Given the description of an element on the screen output the (x, y) to click on. 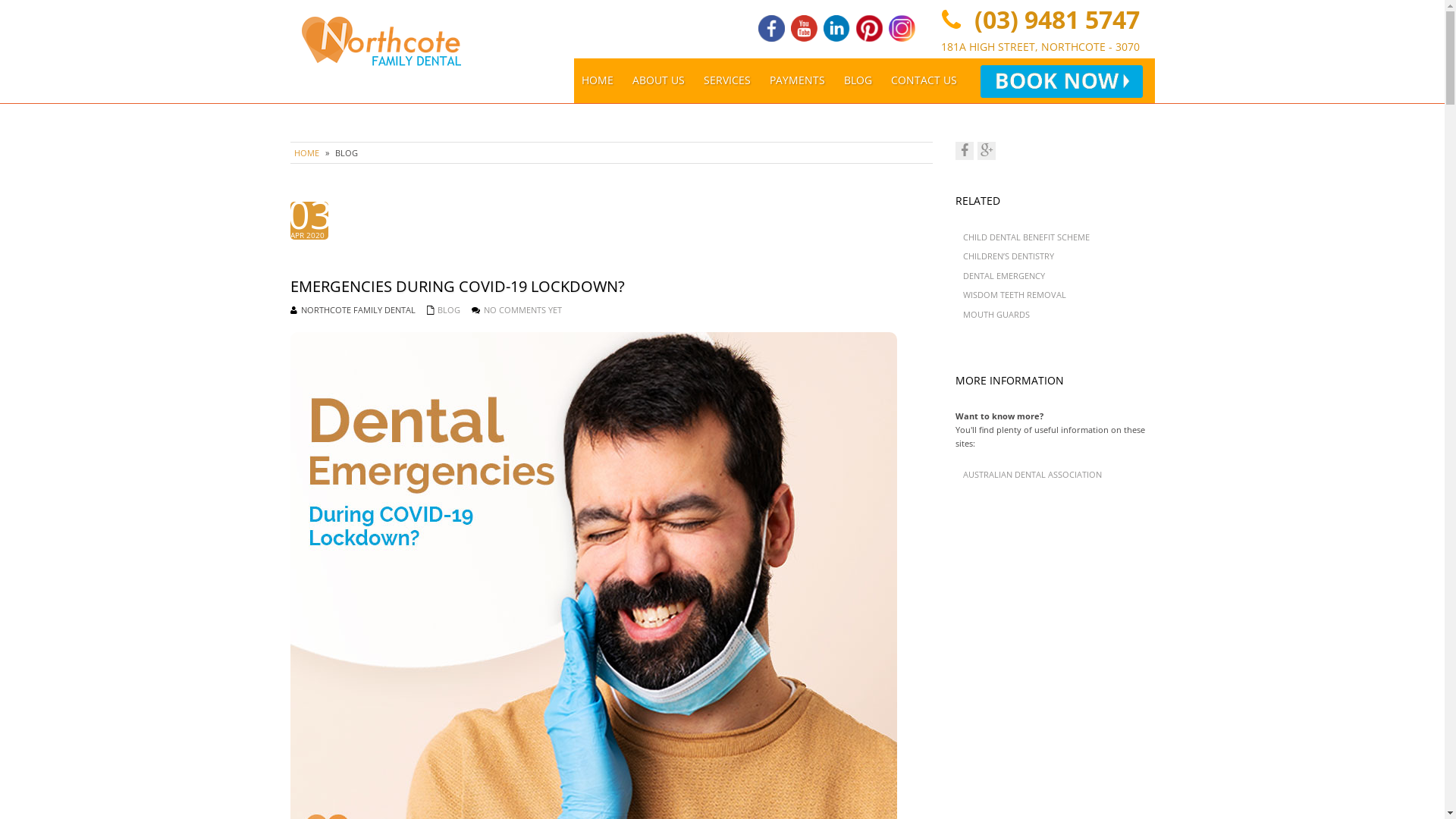
(03) 9481 5747 Element type: text (1053, 19)
NO COMMENTS YET Element type: text (522, 309)
PAYMENTS Element type: text (797, 80)
AUSTRALIAN DENTAL ASSOCIATION Element type: text (1032, 474)
WISDOM TEETH REMOVAL Element type: text (1014, 294)
BLOG Element type: text (447, 309)
CONTACT US Element type: text (923, 80)
HOME Element type: text (597, 80)
SERVICES Element type: text (727, 80)
BLOG Element type: text (857, 80)
181A HIGH STREET, NORTHCOTE - 3070 Element type: text (1039, 46)
CHILD DENTAL BENEFIT SCHEME Element type: text (1026, 236)
DENTAL EMERGENCY Element type: text (1003, 275)
ABOUT US Element type: text (658, 80)
MOUTH GUARDS Element type: text (996, 314)
EMERGENCIES DURING COVID-19 LOCKDOWN? Element type: text (610, 286)
HOME Element type: text (306, 152)
